Given the description of an element on the screen output the (x, y) to click on. 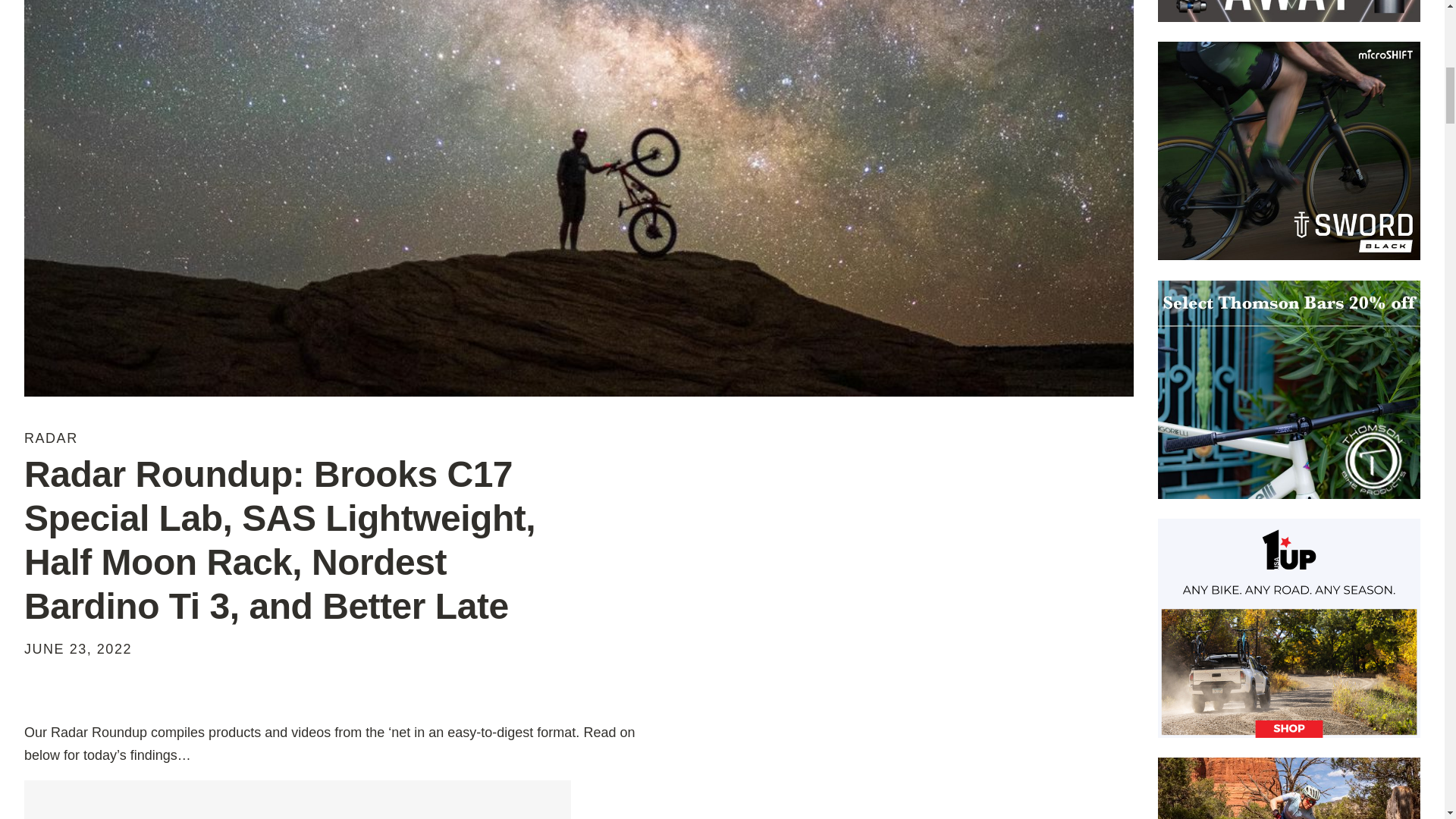
Janus Cycle Group (1289, 10)
Thomson (1289, 389)
Industry Nine (1289, 788)
MicroShift (1289, 150)
1Up (1289, 627)
